Given the description of an element on the screen output the (x, y) to click on. 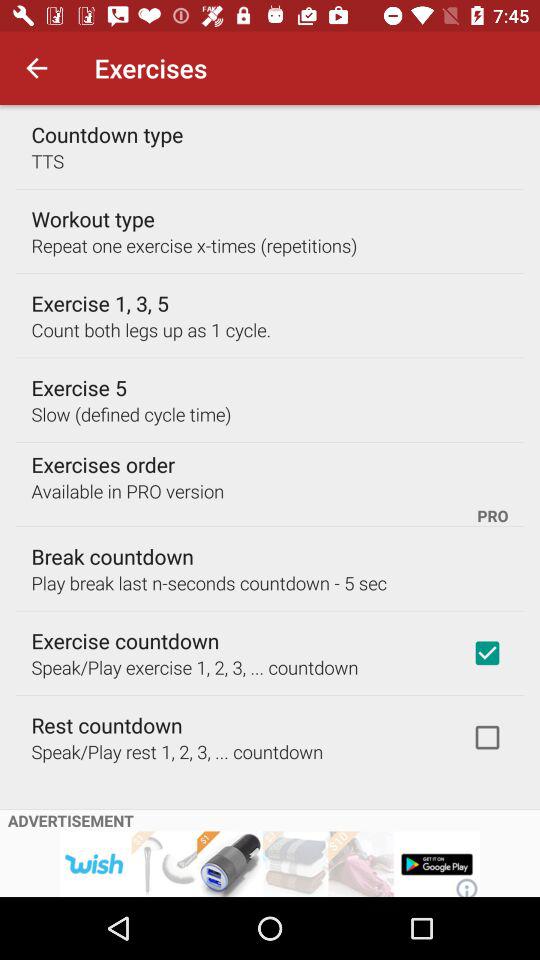
check the box (487, 737)
